Given the description of an element on the screen output the (x, y) to click on. 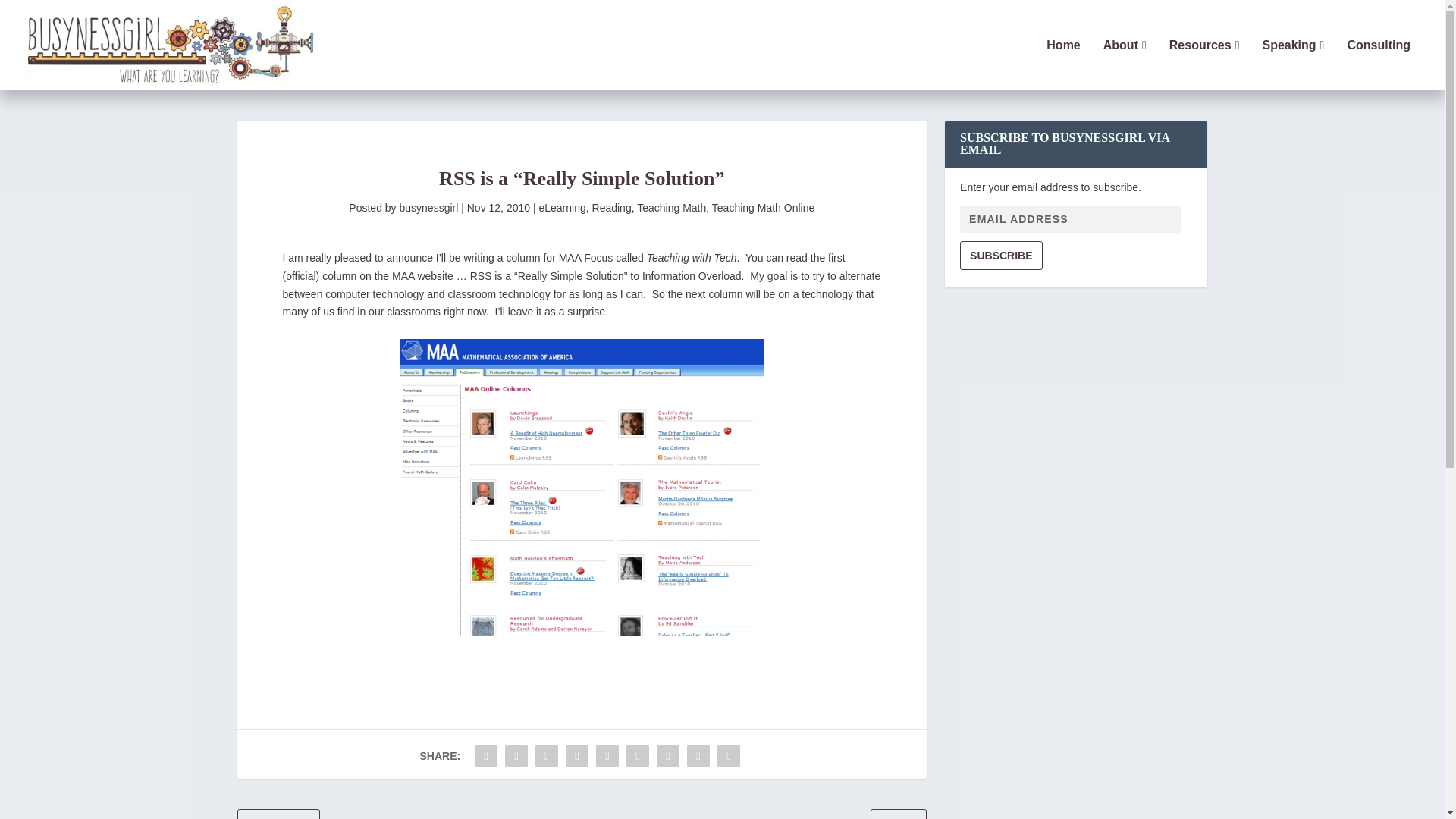
MAA Technology Columnist (580, 487)
Resources (1204, 64)
Posts by busynessgirl (428, 207)
